Given the description of an element on the screen output the (x, y) to click on. 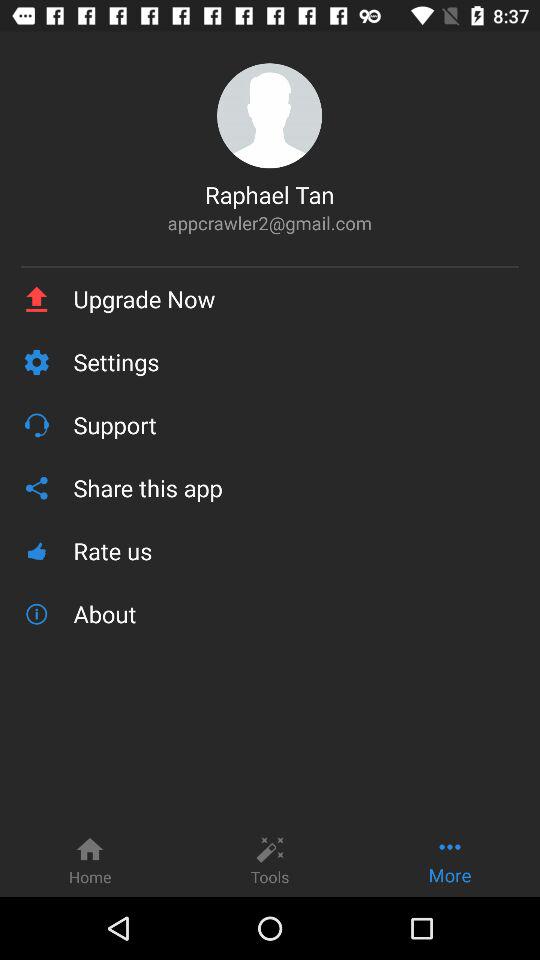
select the item below the share this app item (296, 550)
